Given the description of an element on the screen output the (x, y) to click on. 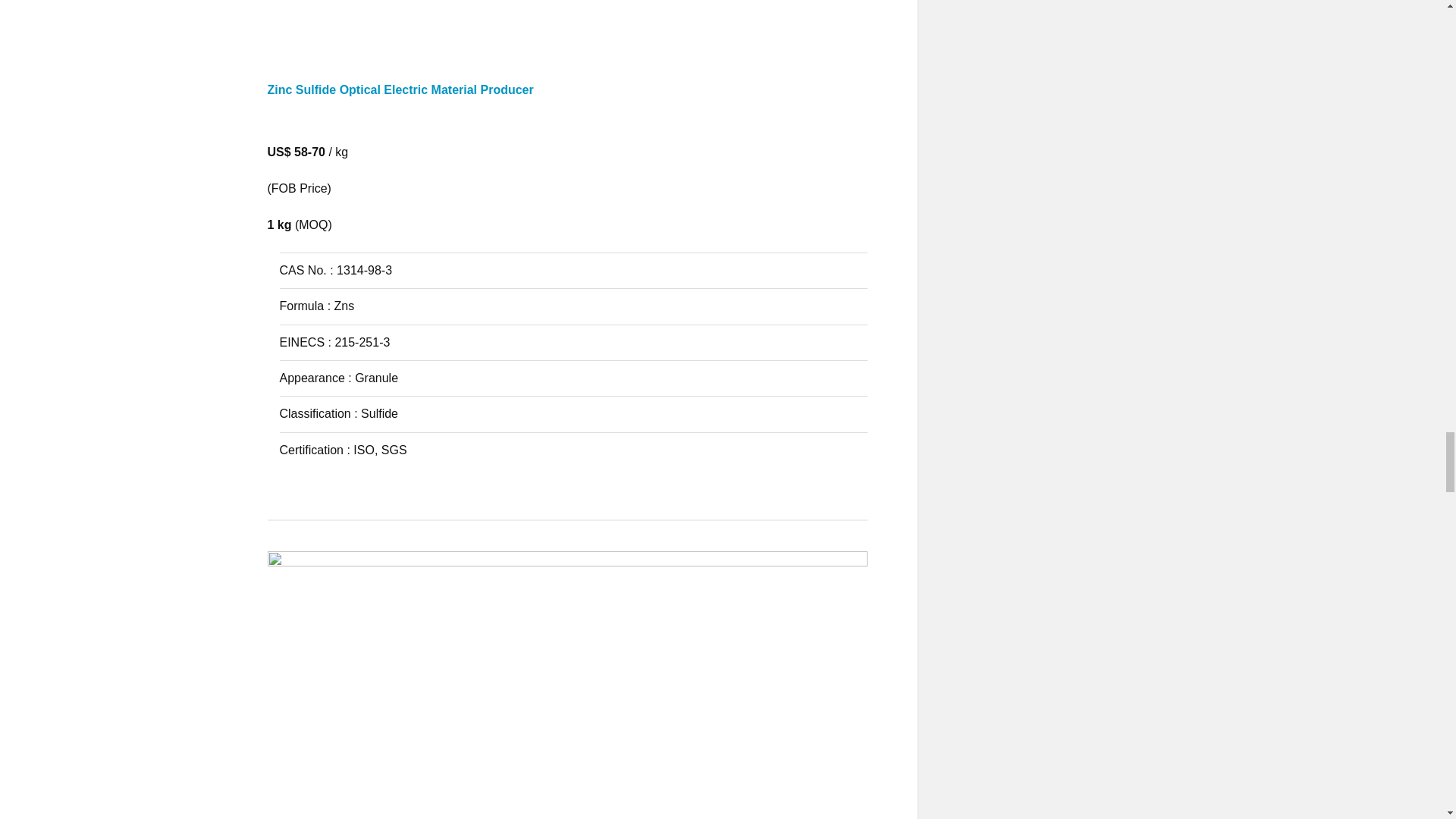
Zinc Sulfide Optical Electric Material Producer (566, 103)
